Given the description of an element on the screen output the (x, y) to click on. 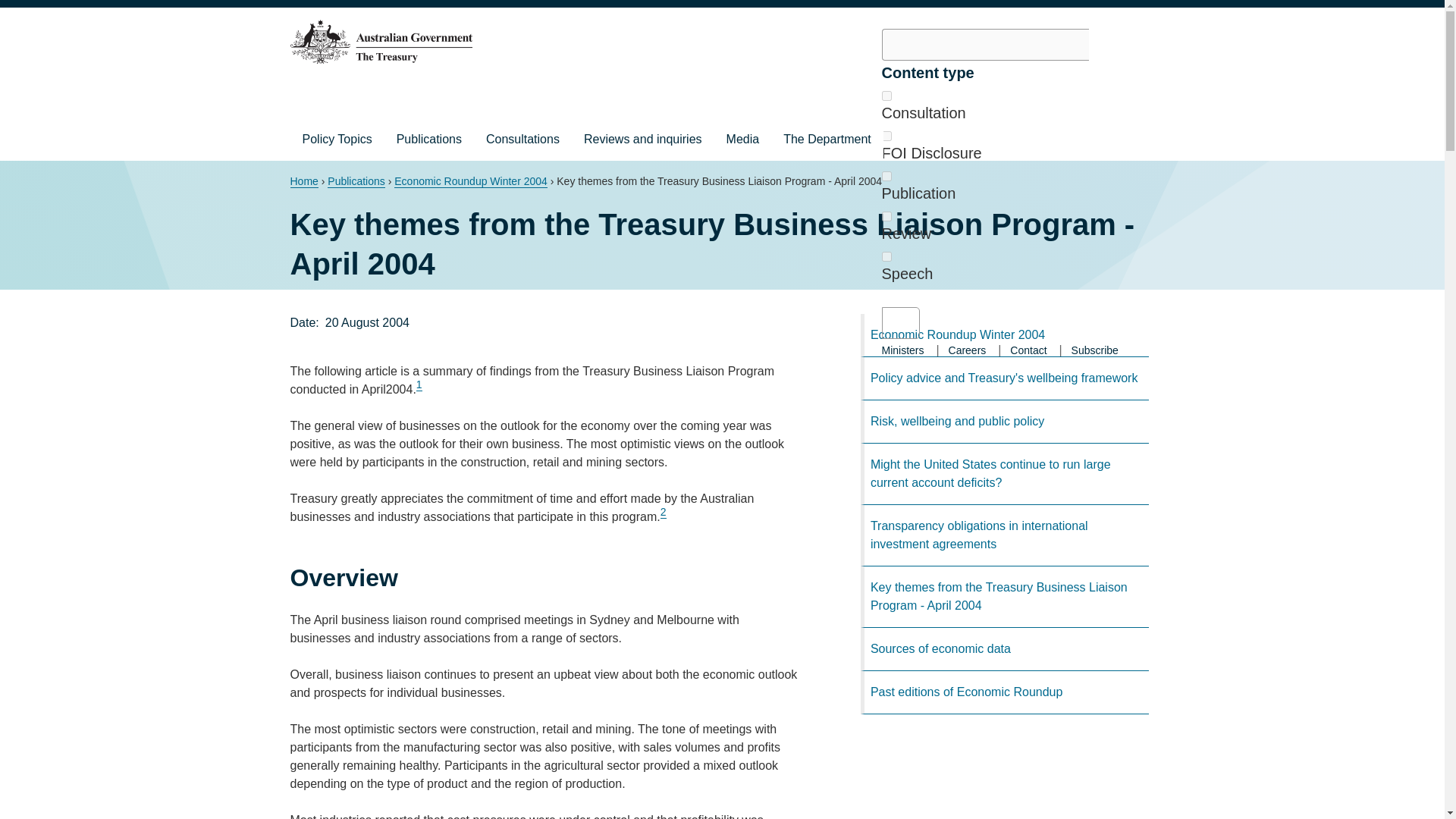
Apply (899, 323)
publication (885, 175)
Media (742, 138)
The Department (827, 138)
Careers (968, 349)
Economic Roundup Winter 2004 (470, 181)
Reviews and inquiries (643, 138)
Publications (356, 181)
Subscribe (1094, 349)
Apply (899, 323)
Policy advice and Treasury's wellbeing framework (1004, 378)
Home (303, 181)
speech (885, 256)
consultation (885, 95)
